Given the description of an element on the screen output the (x, y) to click on. 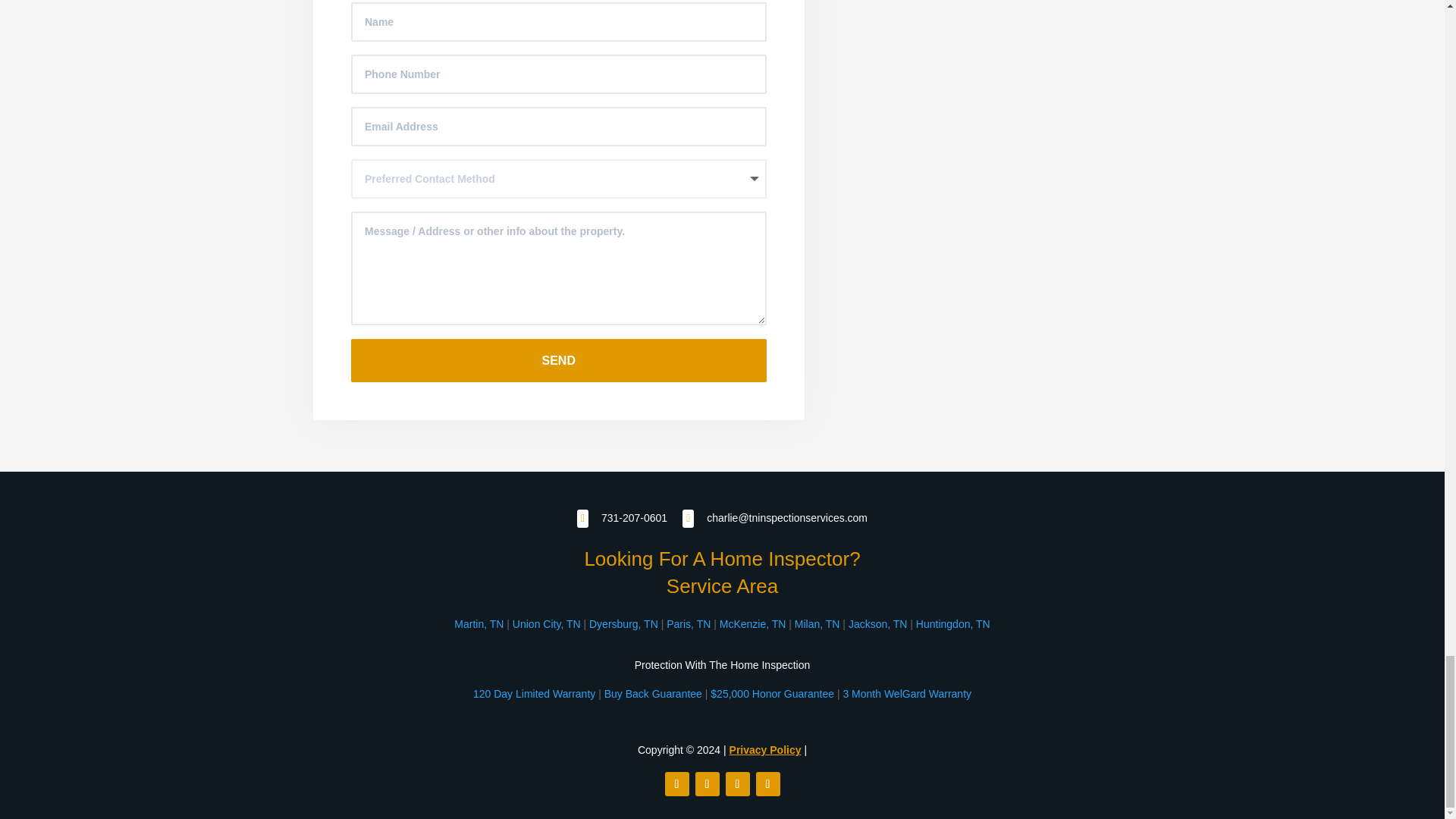
Follow on Facebook (675, 784)
